Given the description of an element on the screen output the (x, y) to click on. 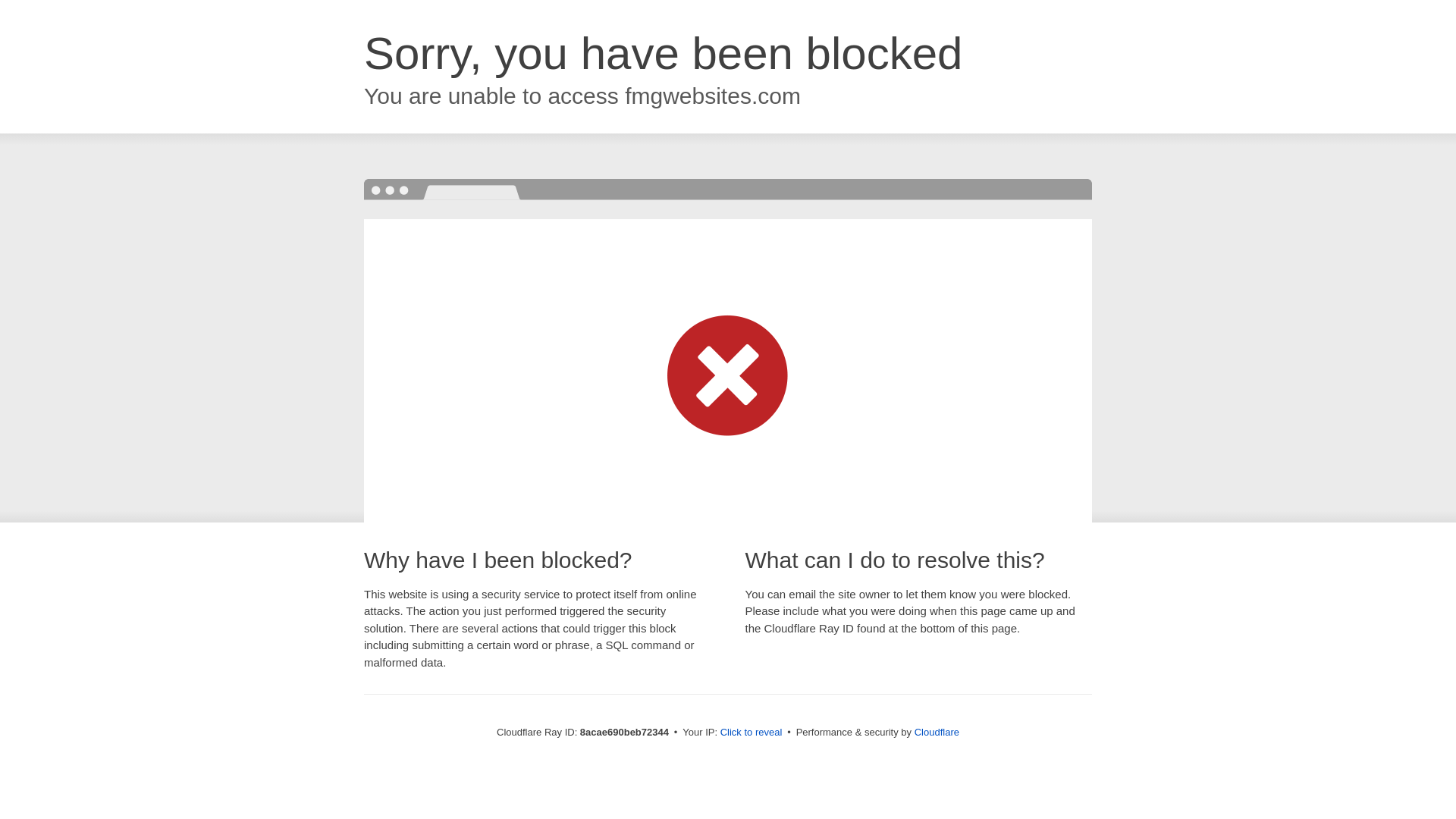
Click to reveal (751, 732)
Cloudflare (936, 731)
